Given the description of an element on the screen output the (x, y) to click on. 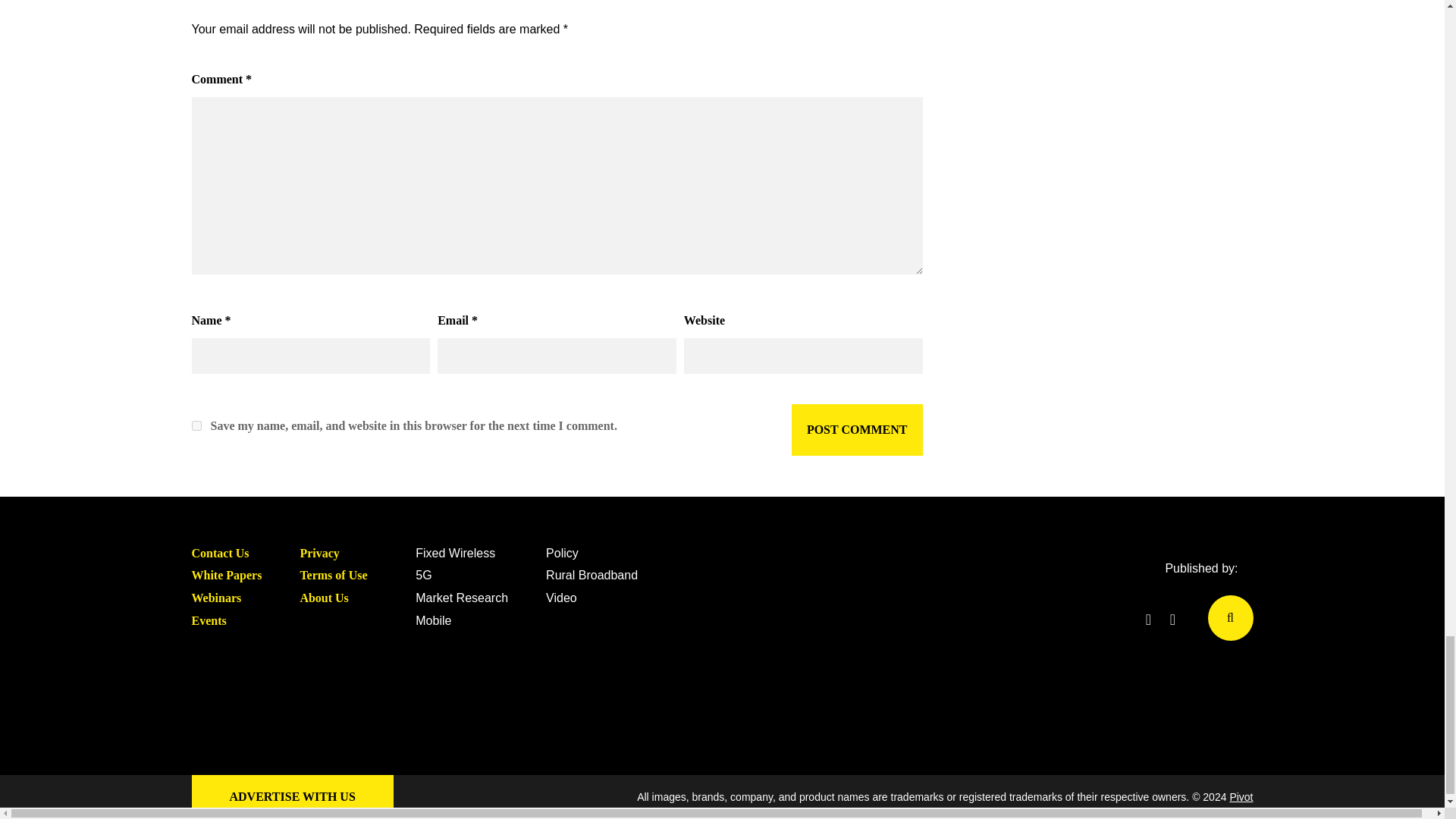
yes (195, 425)
Post Comment (857, 429)
